Given the description of an element on the screen output the (x, y) to click on. 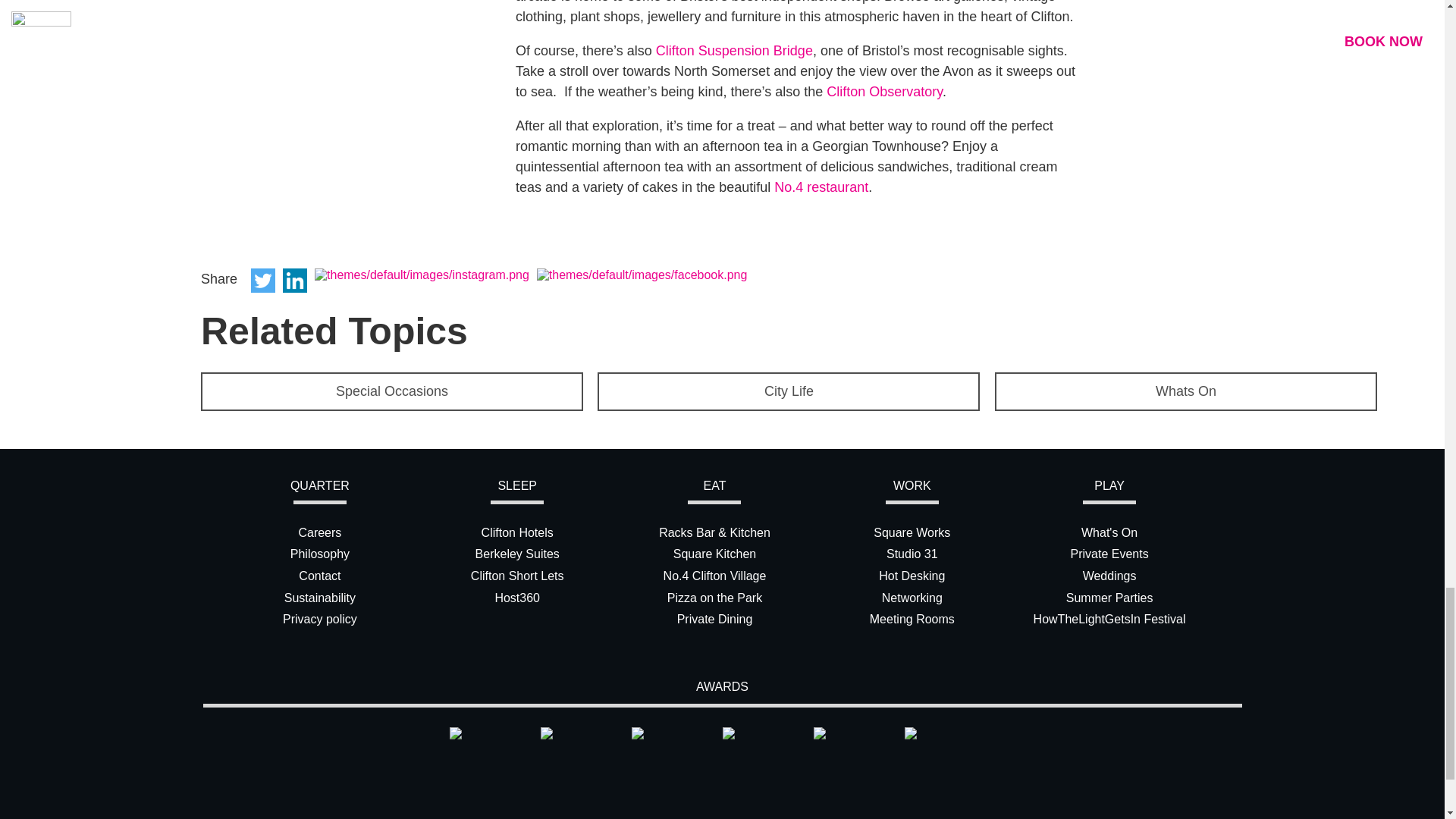
twitter (262, 280)
linkedin (294, 280)
